Given the description of an element on the screen output the (x, y) to click on. 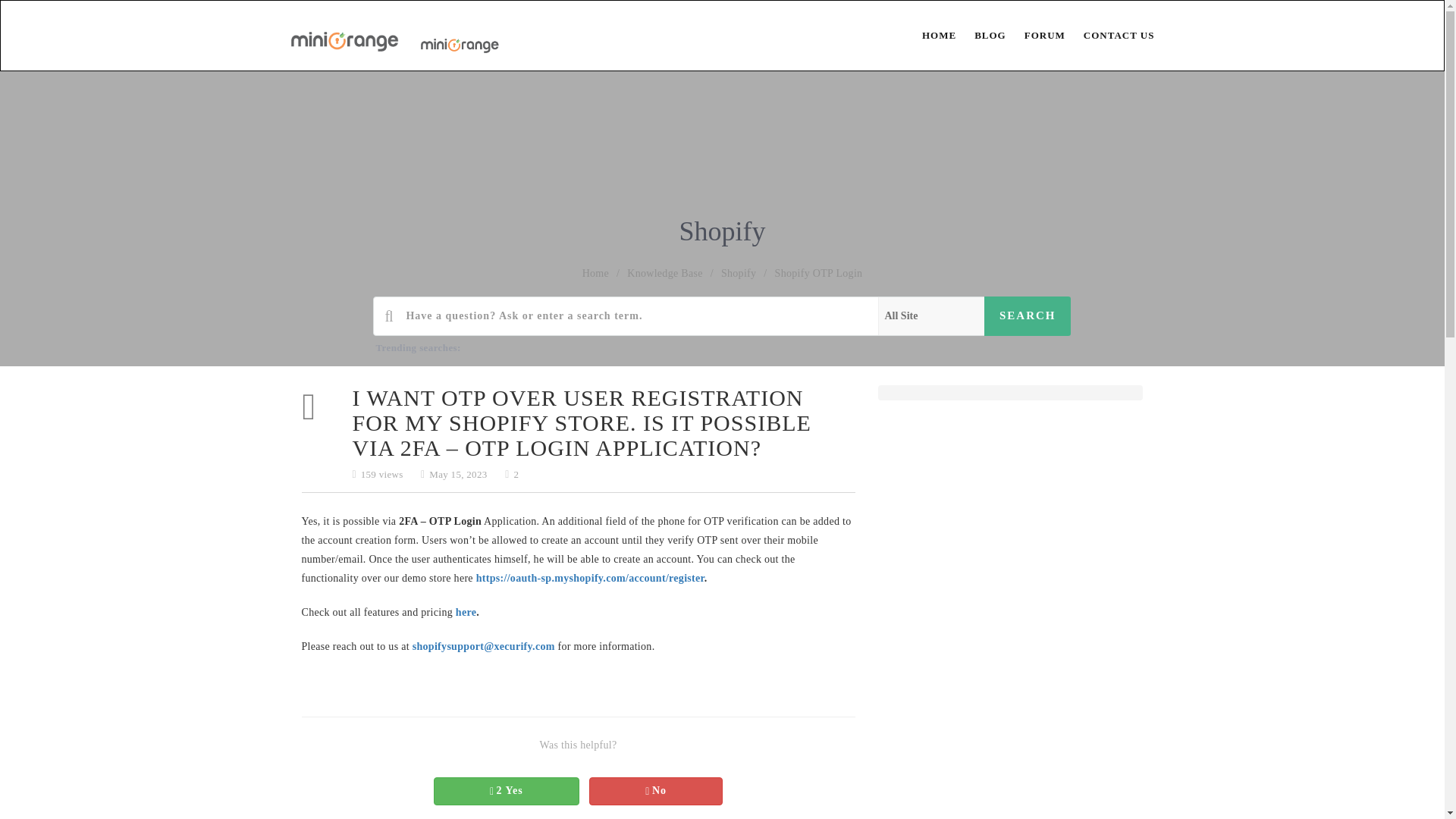
CONTACT US (1109, 35)
here (465, 612)
2 Yes (506, 790)
Shopify OTP Login (818, 273)
Knowledge Base (664, 273)
Home (595, 273)
Search (1027, 315)
Shopify (737, 273)
Search (1027, 315)
No (655, 790)
